Given the description of an element on the screen output the (x, y) to click on. 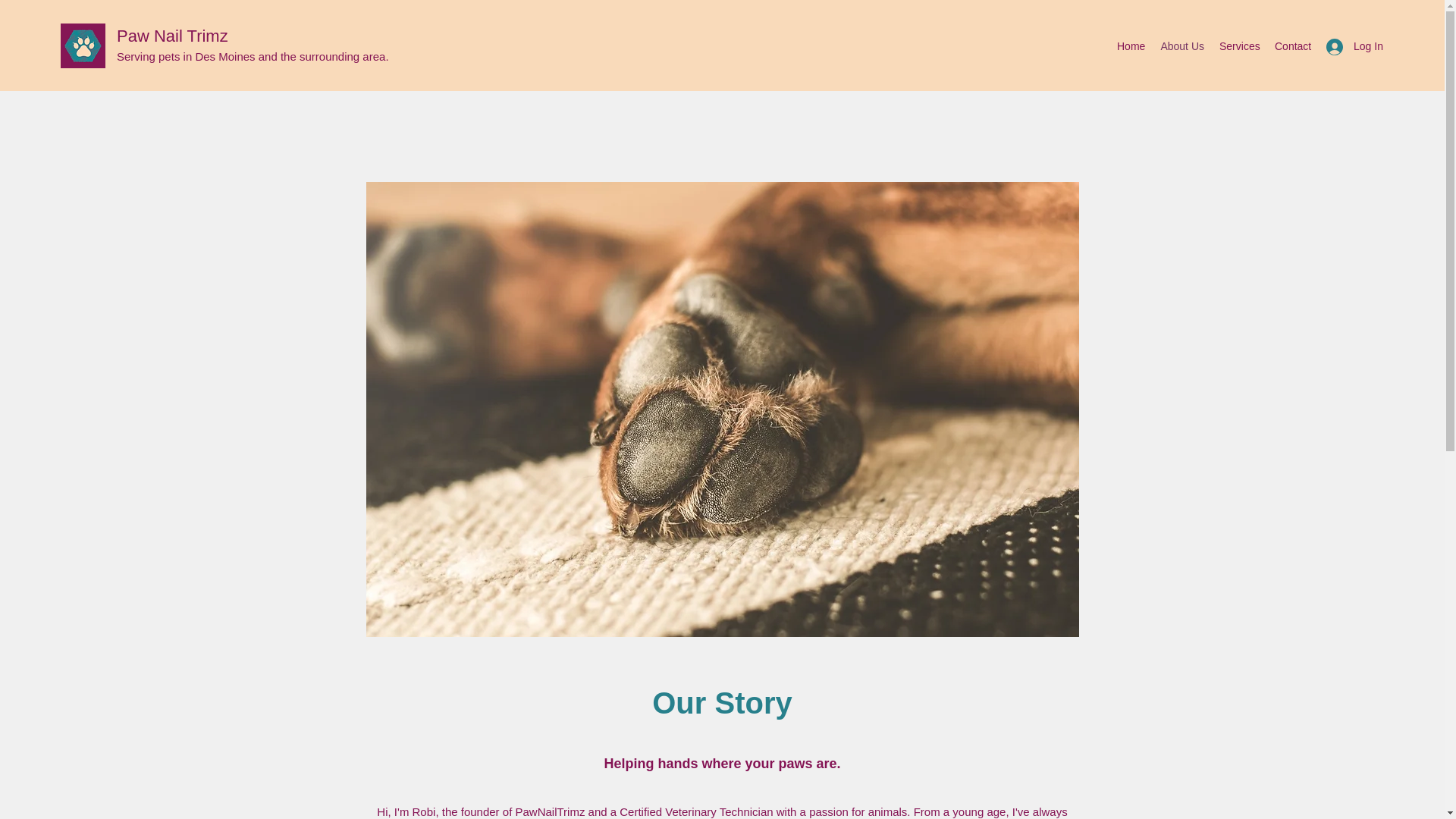
Contact (1291, 46)
Paw Nail Trimz (172, 35)
Services (1238, 46)
About Us (1182, 46)
Log In (1350, 46)
Home (1131, 46)
